Given the description of an element on the screen output the (x, y) to click on. 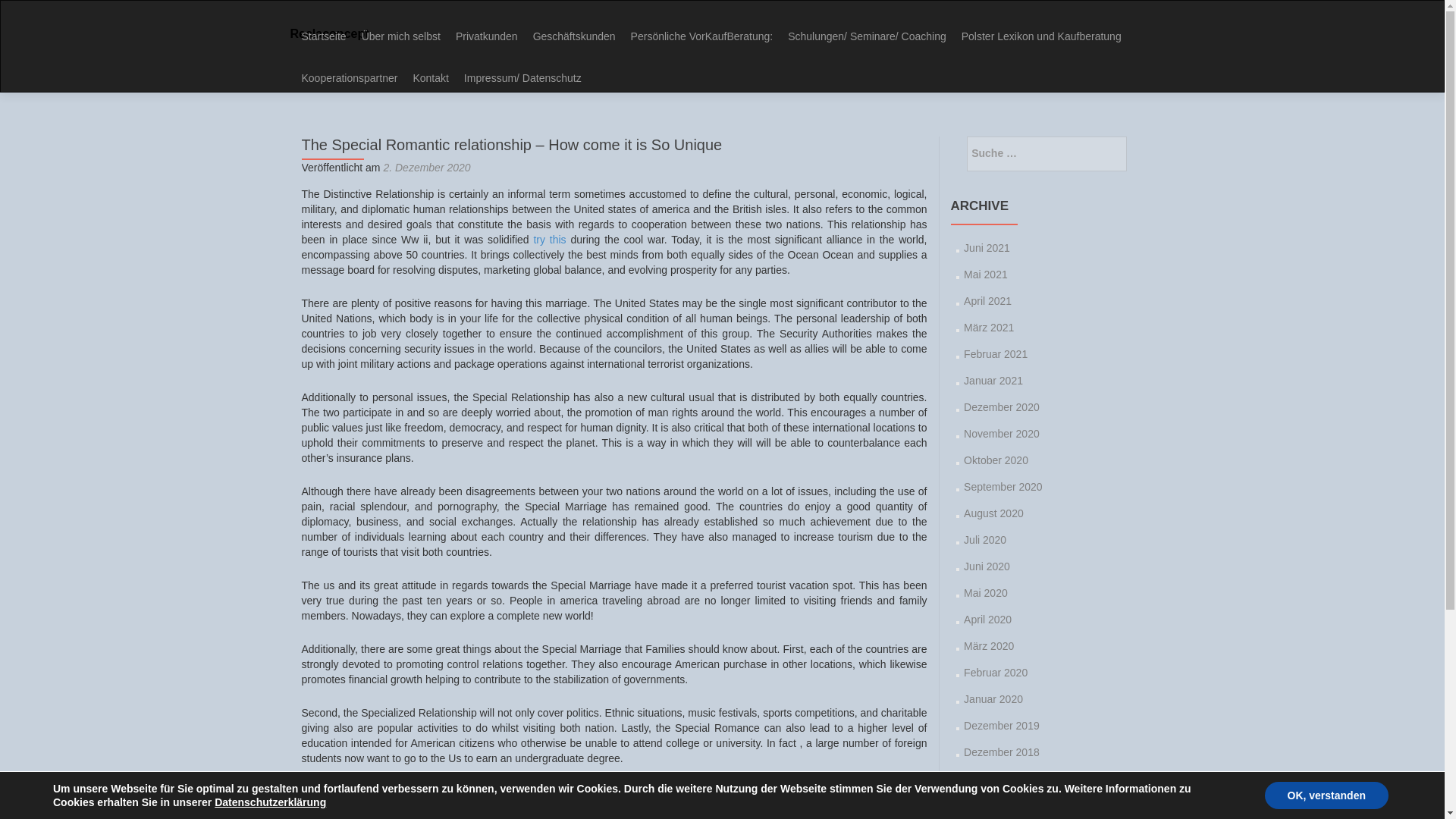
Suche (1125, 153)
Januar 2020 (993, 698)
Kontakt (430, 78)
Polster Lexikon und Kaufberatung (1040, 36)
Reclaconcept (328, 33)
Privatkunden (486, 36)
Dezember 2020 (1001, 407)
2. Dezember 2020 (426, 167)
August 2020 (993, 512)
Oktober 2020 (995, 460)
